Given the description of an element on the screen output the (x, y) to click on. 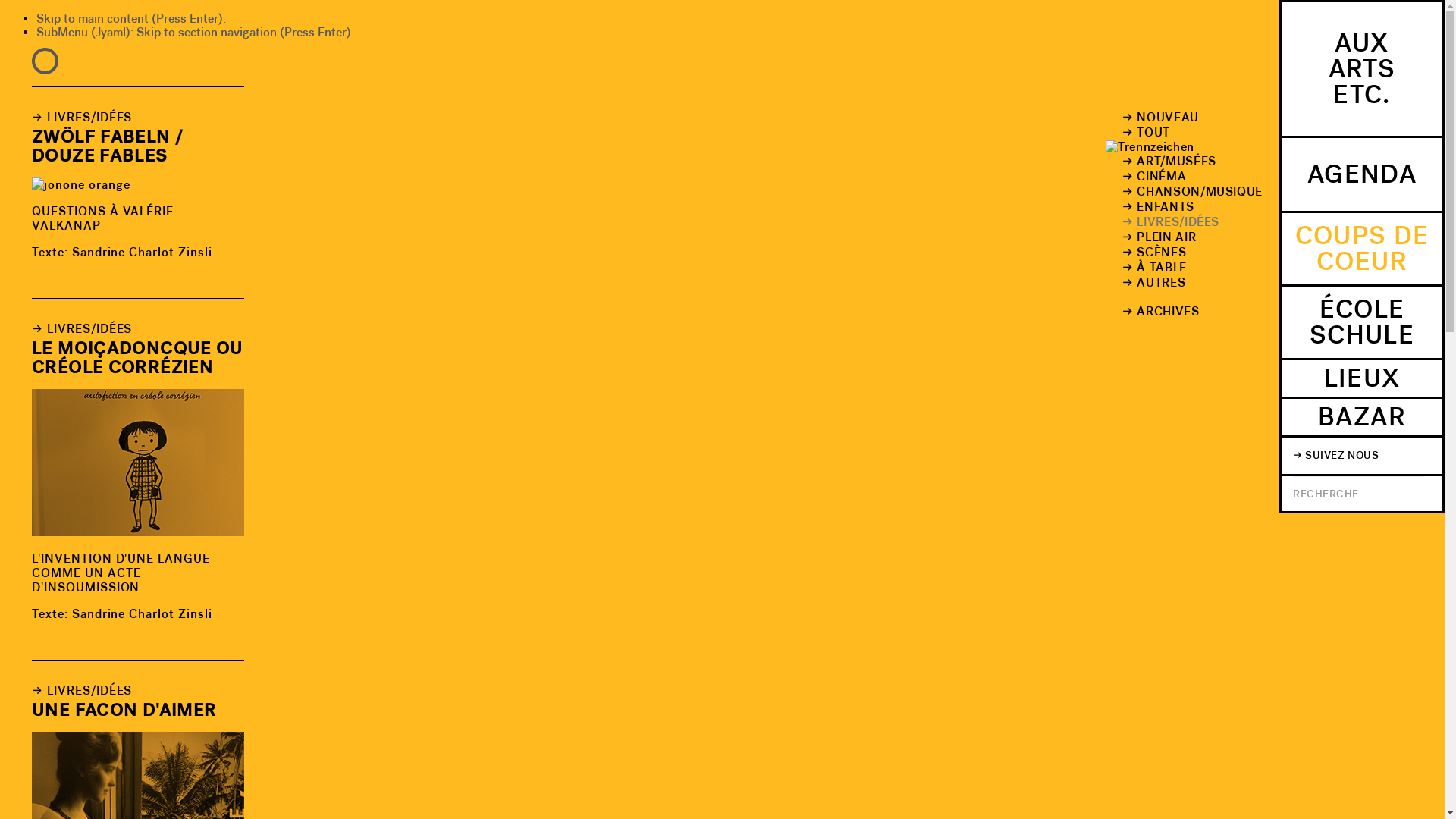
SubMenu (Jyaml): Skip to section navigation (Press Enter). Element type: text (195, 32)
SUIVEZ NOUS Element type: text (1361, 456)
TOUT Element type: text (1183, 132)
CHANSON/MUSIQUE Element type: text (1183, 191)
ENFANTS Element type: text (1183, 206)
AGENDA Element type: text (1361, 175)
Skip to main content (Press Enter). Element type: text (130, 18)
ARCHIVES Element type: text (1183, 311)
LIEUX Element type: text (1361, 379)
BAZAR Element type: text (1361, 417)
PLEIN AIR Element type: text (1183, 236)
COUPS DE COEUR Element type: text (1361, 249)
  Element type: text (44, 60)
NOUVEAU Element type: text (1183, 117)
AUTRES Element type: text (1183, 282)
AUX ARTS ETC. Element type: text (1361, 70)
